Given the description of an element on the screen output the (x, y) to click on. 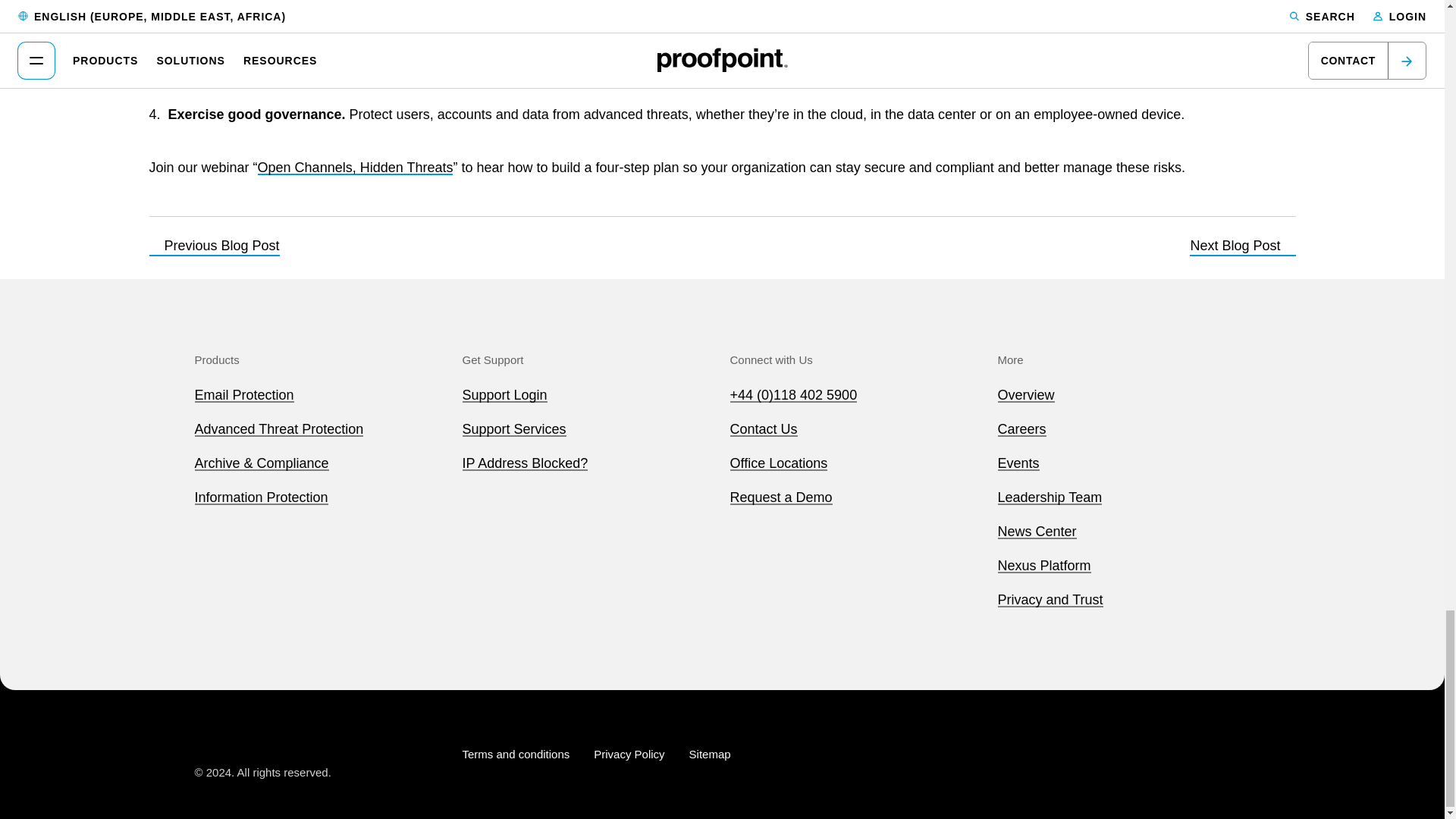
Open Channels, Hidden Threats (354, 167)
